Given the description of an element on the screen output the (x, y) to click on. 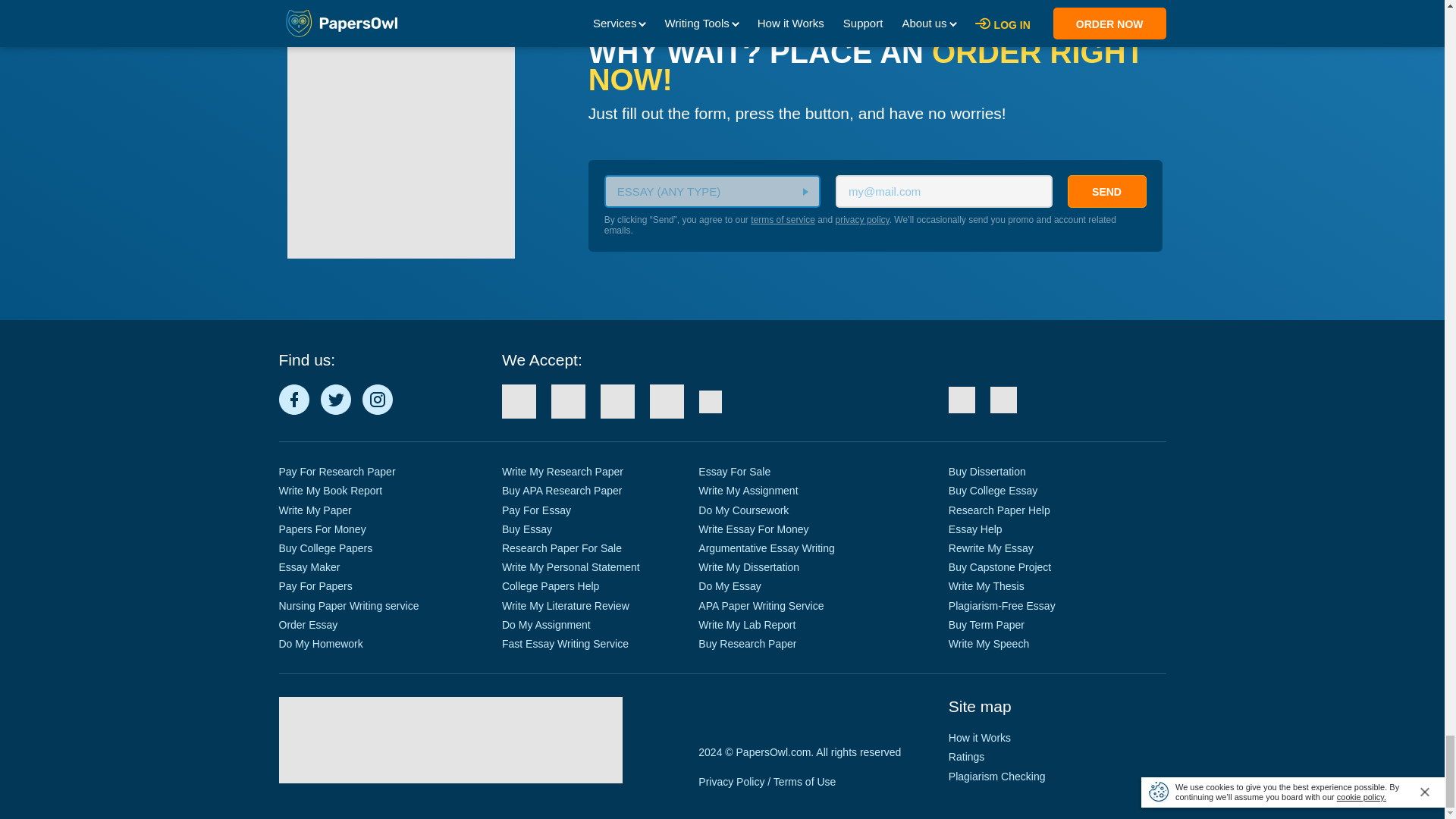
Quality essay writing service in UK (1003, 399)
Quality essay writing service in CA (962, 399)
